Given the description of an element on the screen output the (x, y) to click on. 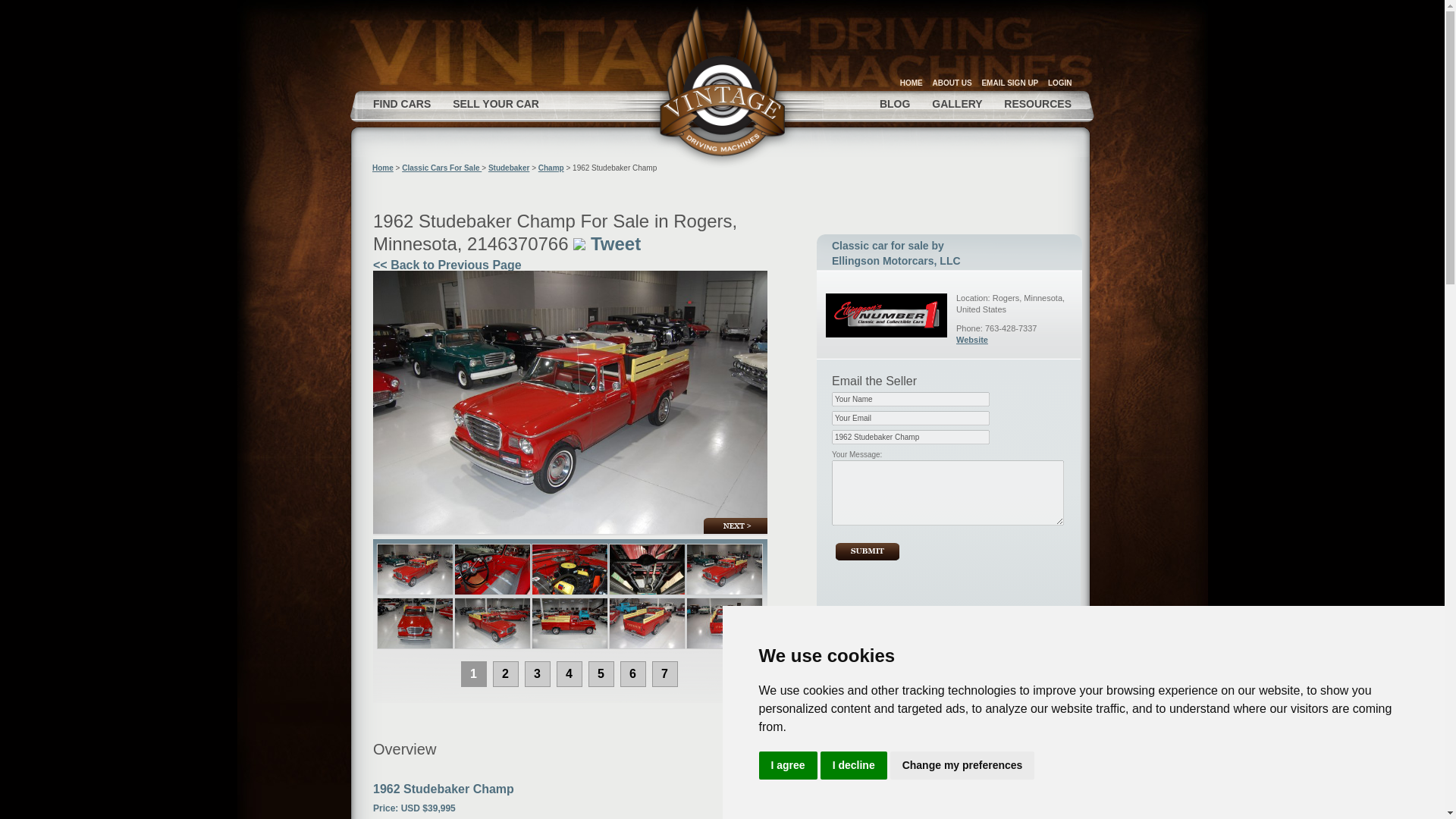
SELL YOUR CAR (495, 103)
5 (601, 673)
4 (569, 673)
BLOG (894, 103)
3 (537, 673)
1962 Studebaker Champ (910, 436)
FIND CARS (401, 103)
Change my preferences (962, 765)
Home (722, 84)
Home (382, 167)
LOGIN (1059, 82)
EMAIL SIGN UP (1009, 82)
2 (505, 673)
GALLERY (956, 103)
1 (473, 673)
